Given the description of an element on the screen output the (x, y) to click on. 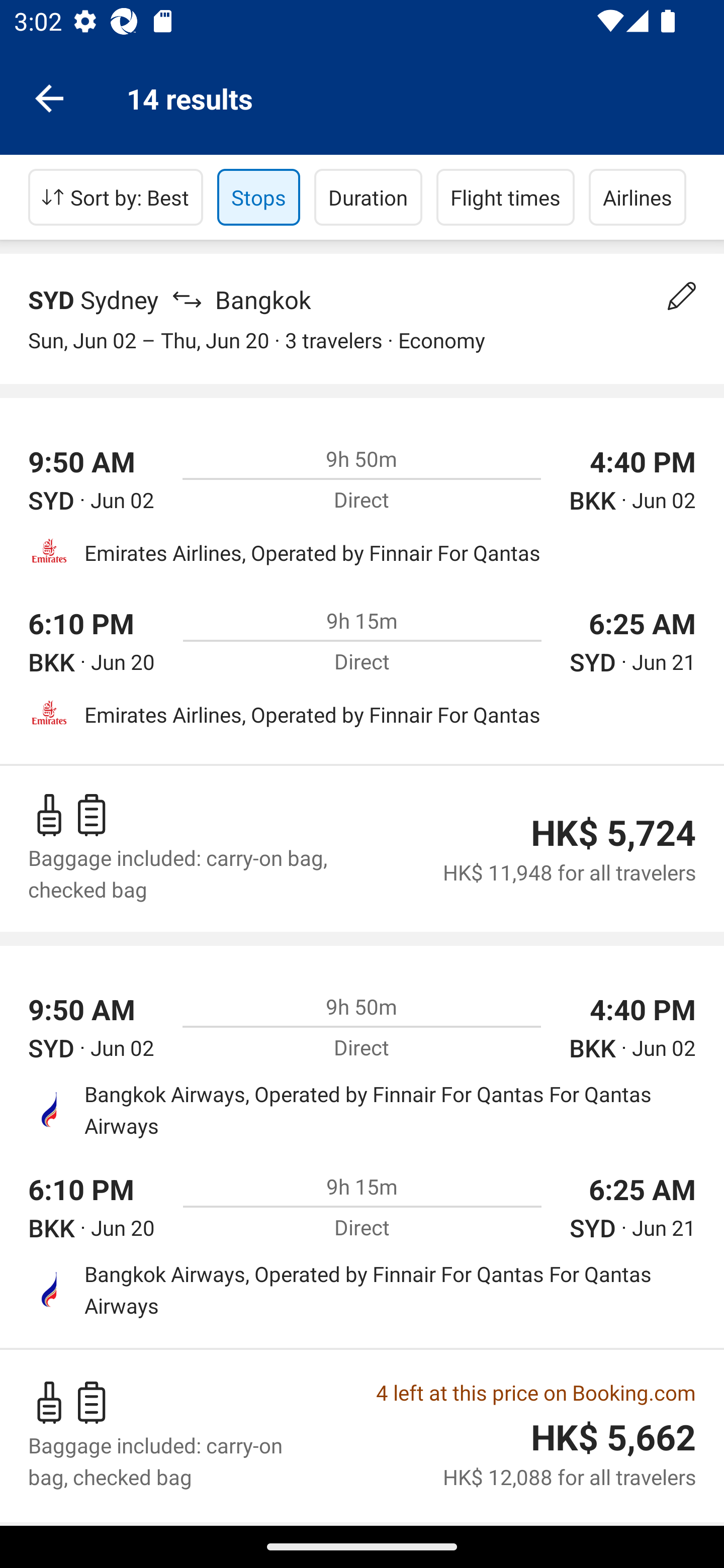
Navigate up (49, 97)
Sort by: Best (115, 197)
Stops (258, 197)
Duration (368, 197)
Flight times (505, 197)
Airlines (637, 197)
Change your search details (681, 296)
HK$ 5,724 (612, 833)
HK$ 5,662 (612, 1437)
